Given the description of an element on the screen output the (x, y) to click on. 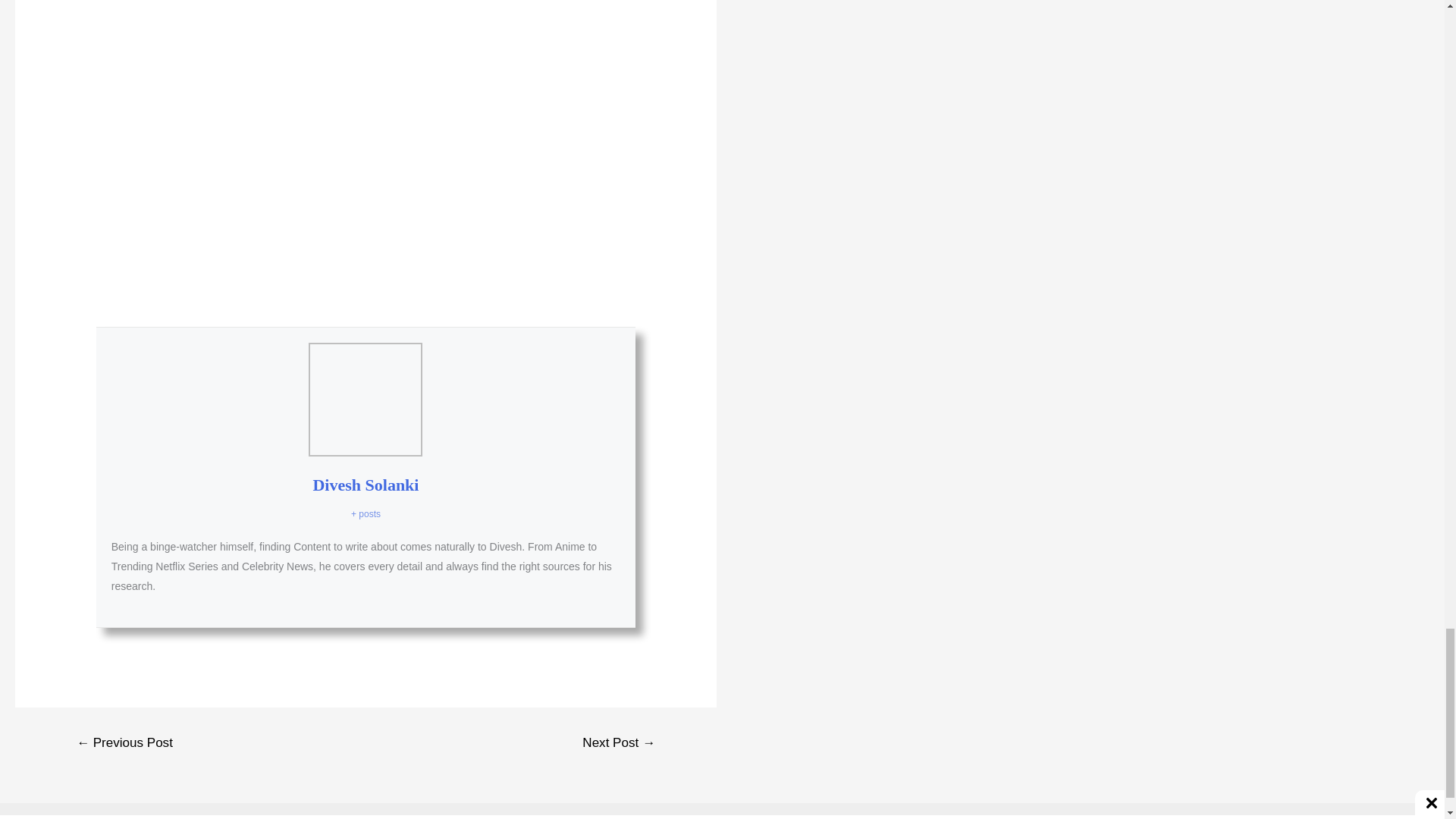
Divesh Solanki (366, 484)
